Given the description of an element on the screen output the (x, y) to click on. 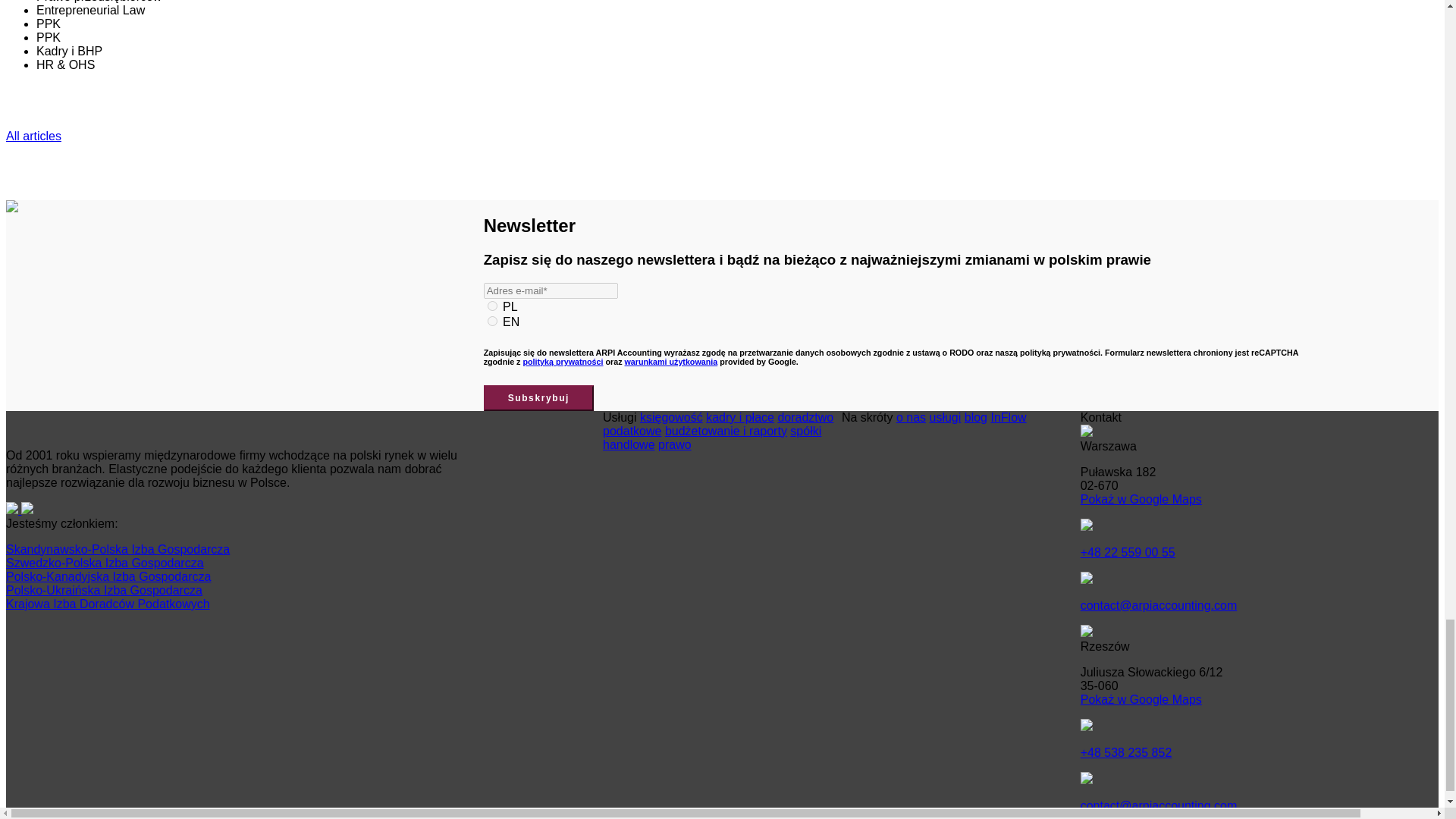
Skandynawsko-Polska Izba Gospodarcza (117, 549)
Szwedzko-Polska Izba Gospodarcza (104, 562)
Adres e-mail (550, 290)
Subskrybuj (538, 397)
All articles (33, 135)
Subskrybuj (538, 397)
3 (492, 306)
Polsko-Kanadyjska Izba Gospodarcza (108, 576)
4 (492, 320)
